Given the description of an element on the screen output the (x, y) to click on. 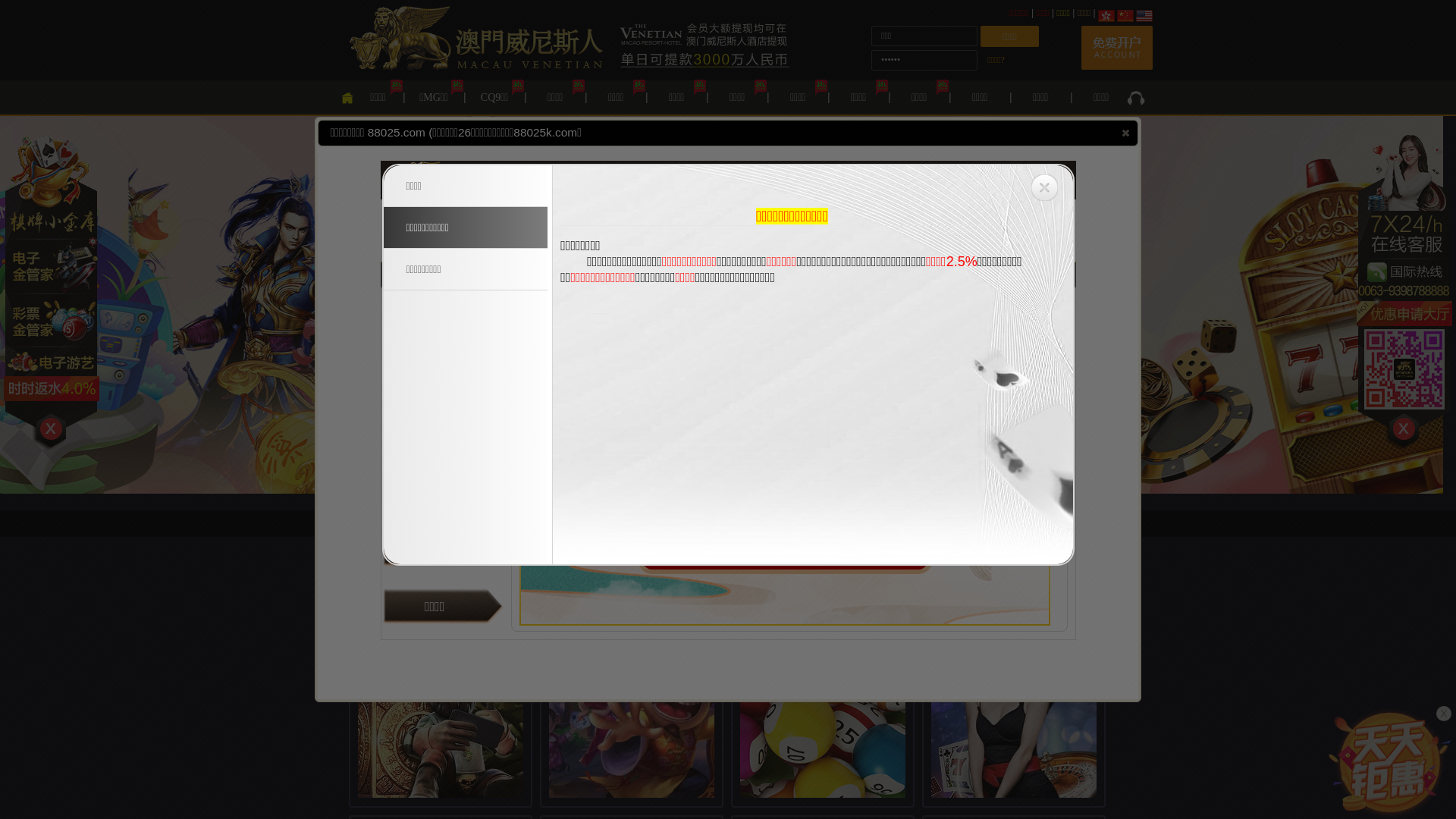
close Element type: text (1125, 132)
X Element type: text (1443, 713)
